Given the description of an element on the screen output the (x, y) to click on. 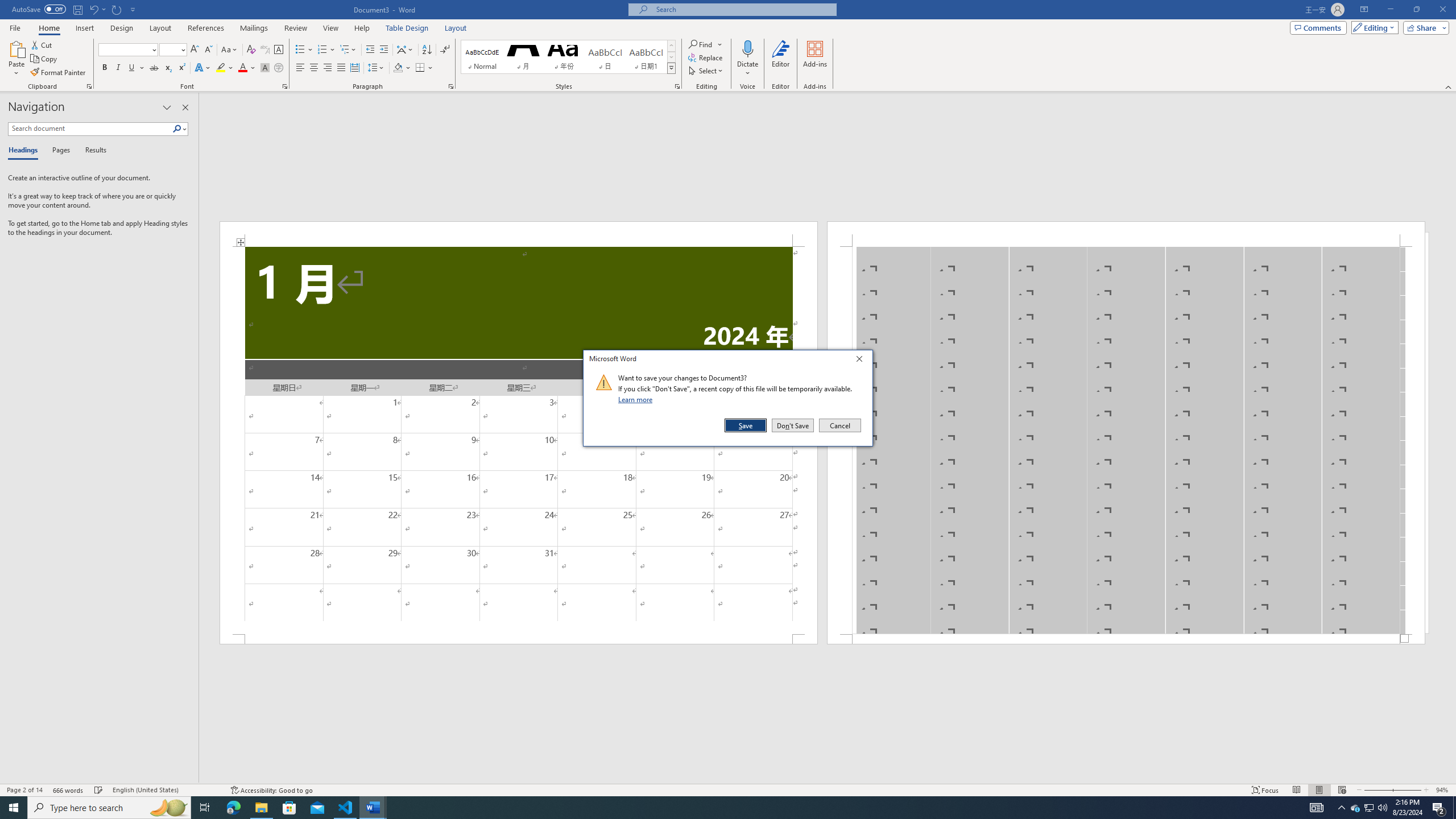
Table Design (407, 28)
Open (1368, 807)
Character Shading (182, 49)
Change Case (264, 67)
Center (229, 49)
User Promoted Notification Area (313, 67)
Show desktop (1368, 807)
